Given the description of an element on the screen output the (x, y) to click on. 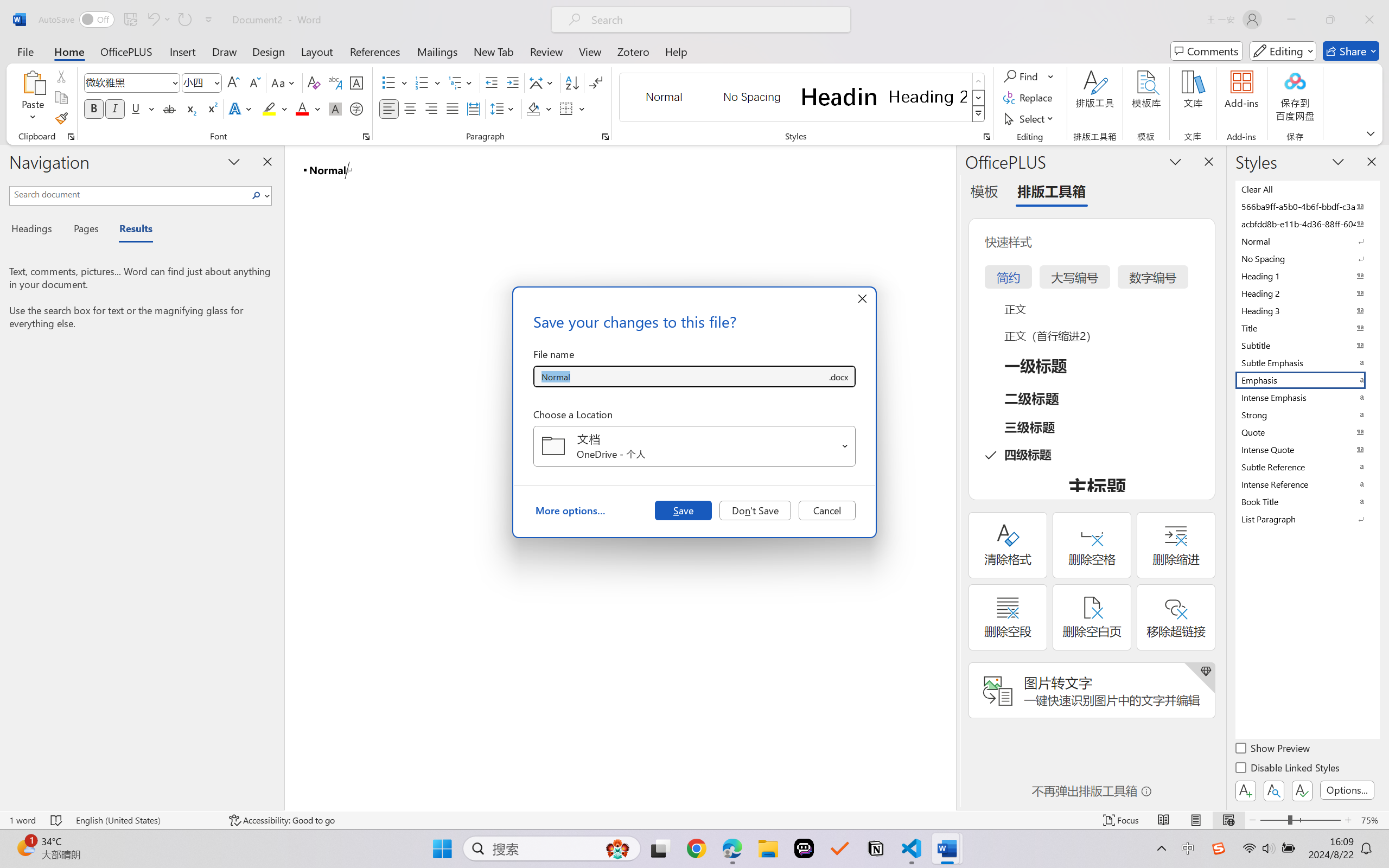
Mode (1283, 50)
Class: NetUIImage (978, 114)
Design (268, 51)
Font (132, 82)
File name (680, 376)
Shading (539, 108)
Layout (316, 51)
Home (69, 51)
